Given the description of an element on the screen output the (x, y) to click on. 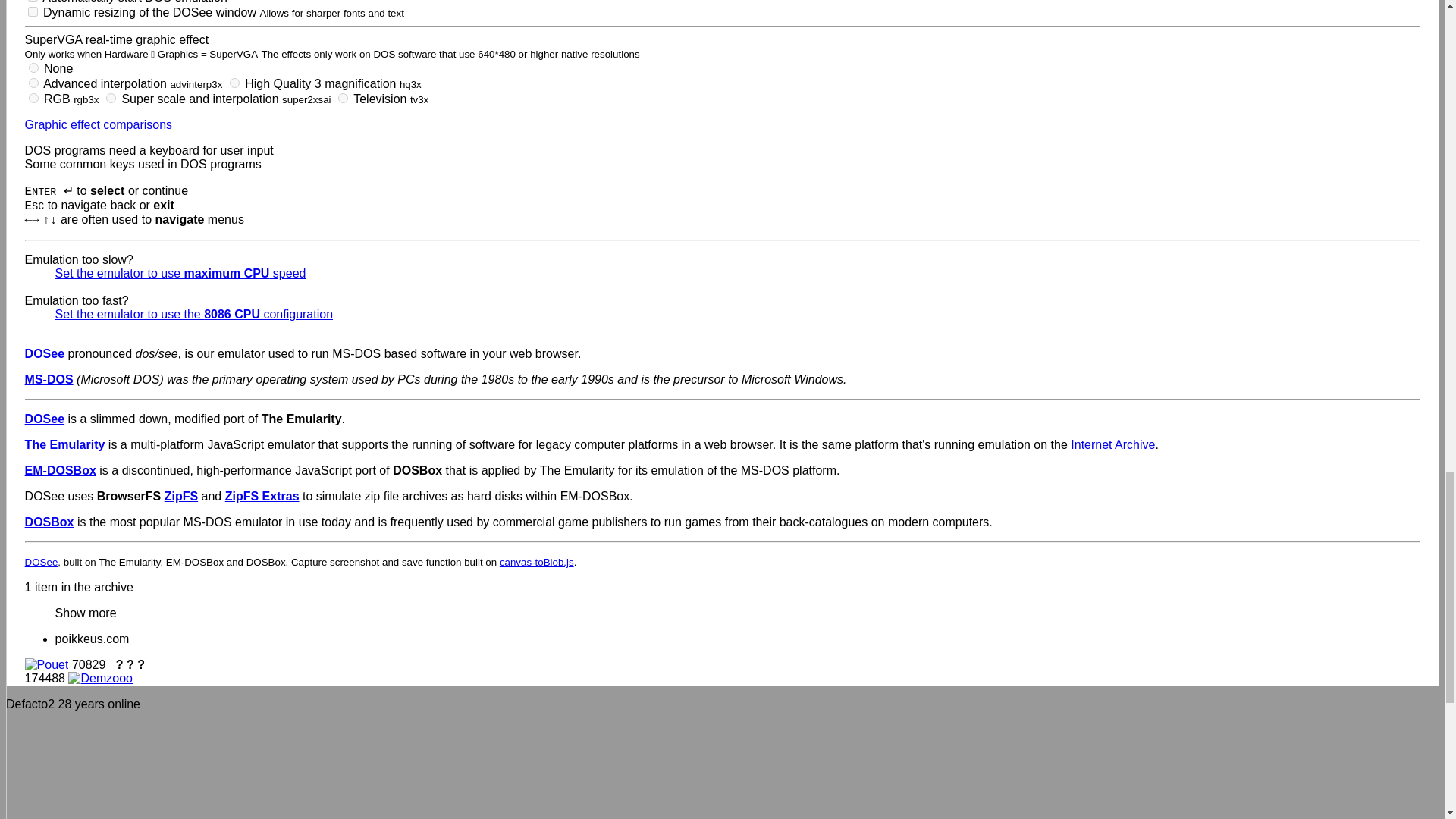
hq3x (235, 82)
advinterp3x (34, 82)
on (32, 11)
none (34, 67)
